Given the description of an element on the screen output the (x, y) to click on. 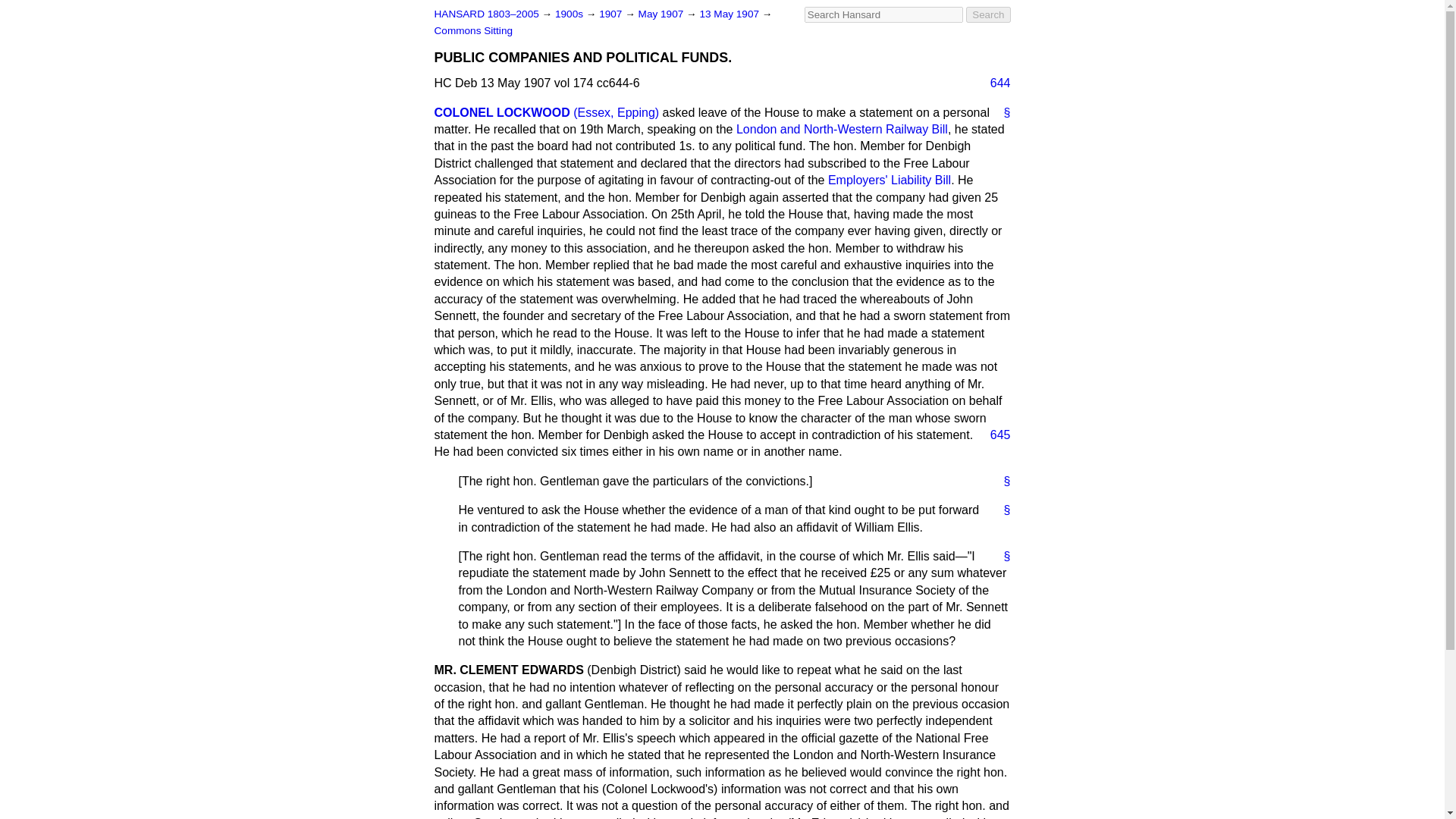
May 1907 (662, 13)
Link to this contribution (1000, 481)
Link to this speech by Mr Amelius Lockwood (1000, 112)
Employers' Liability Bill (889, 179)
Search (988, 14)
COLONEL LOCKWOOD (501, 112)
Link to this contribution (1000, 556)
Link to this contribution (1000, 510)
13 May 1907 (729, 13)
1900s (570, 13)
